Given the description of an element on the screen output the (x, y) to click on. 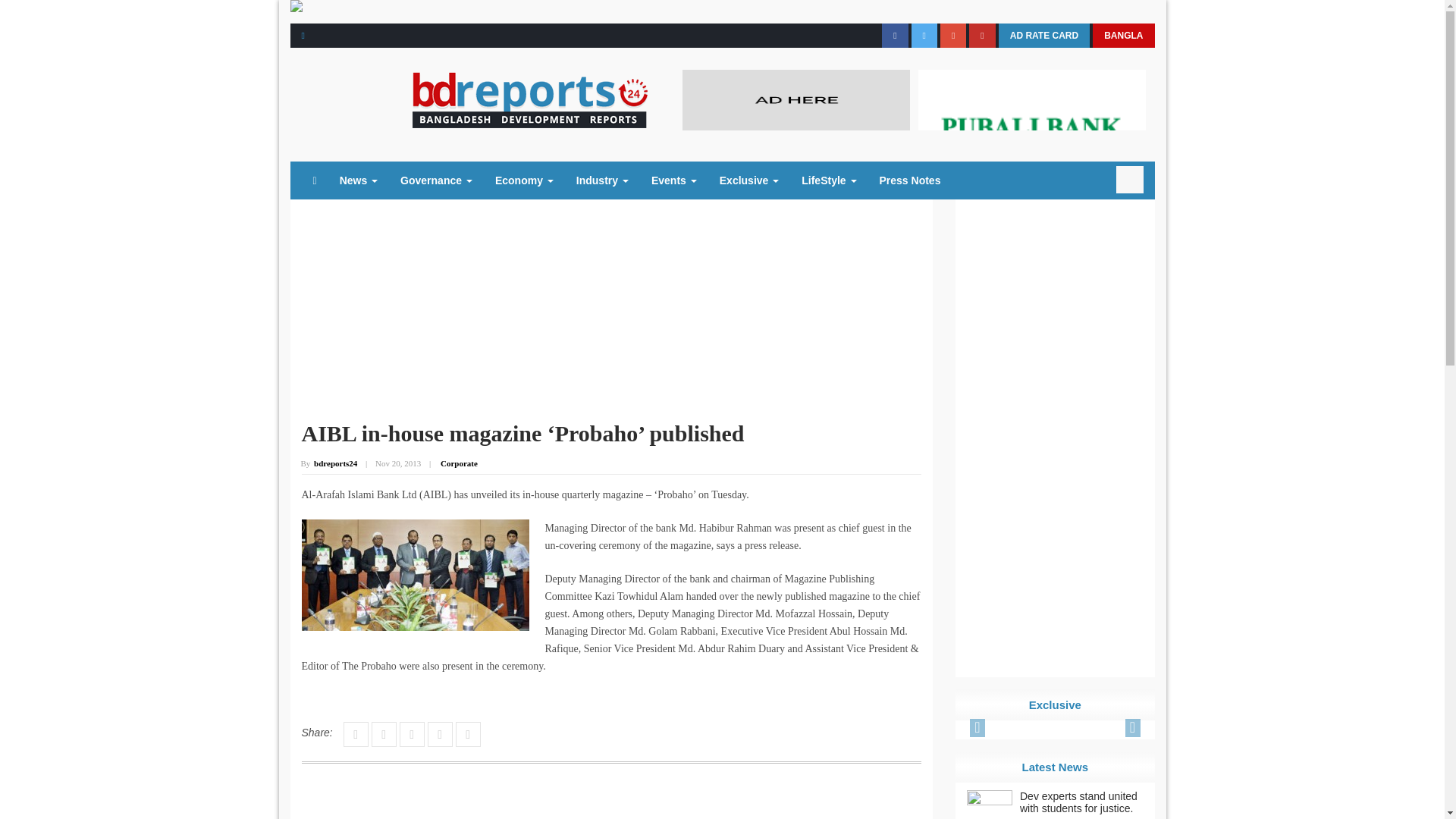
Events (673, 180)
Industry (602, 180)
News (358, 180)
AD RATE CARD (1043, 35)
search (1129, 179)
Governance (435, 180)
Industry (602, 180)
Economy (523, 180)
Exclusive (748, 180)
News (358, 180)
